Given the description of an element on the screen output the (x, y) to click on. 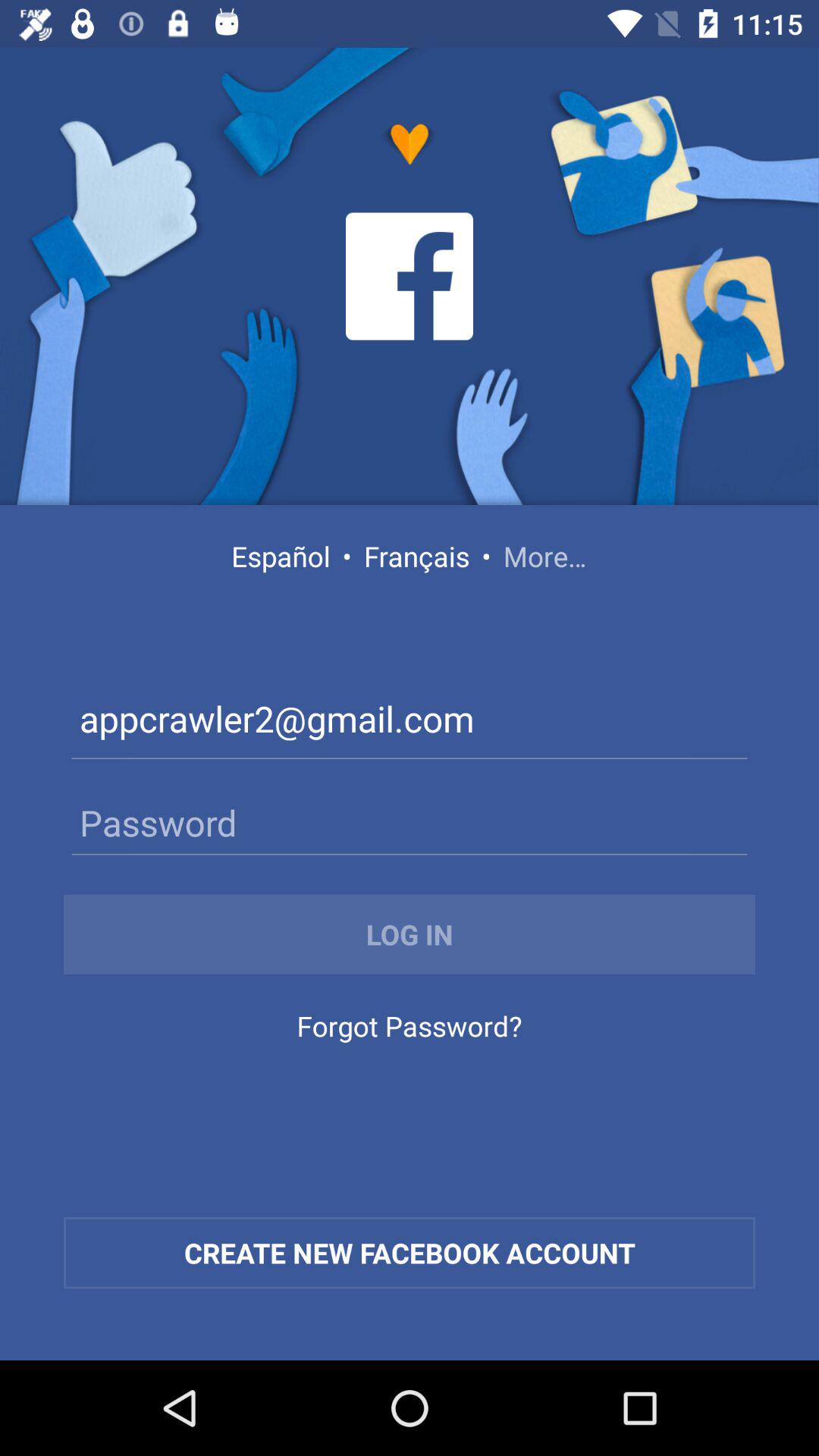
scroll to create new facebook icon (409, 1252)
